Given the description of an element on the screen output the (x, y) to click on. 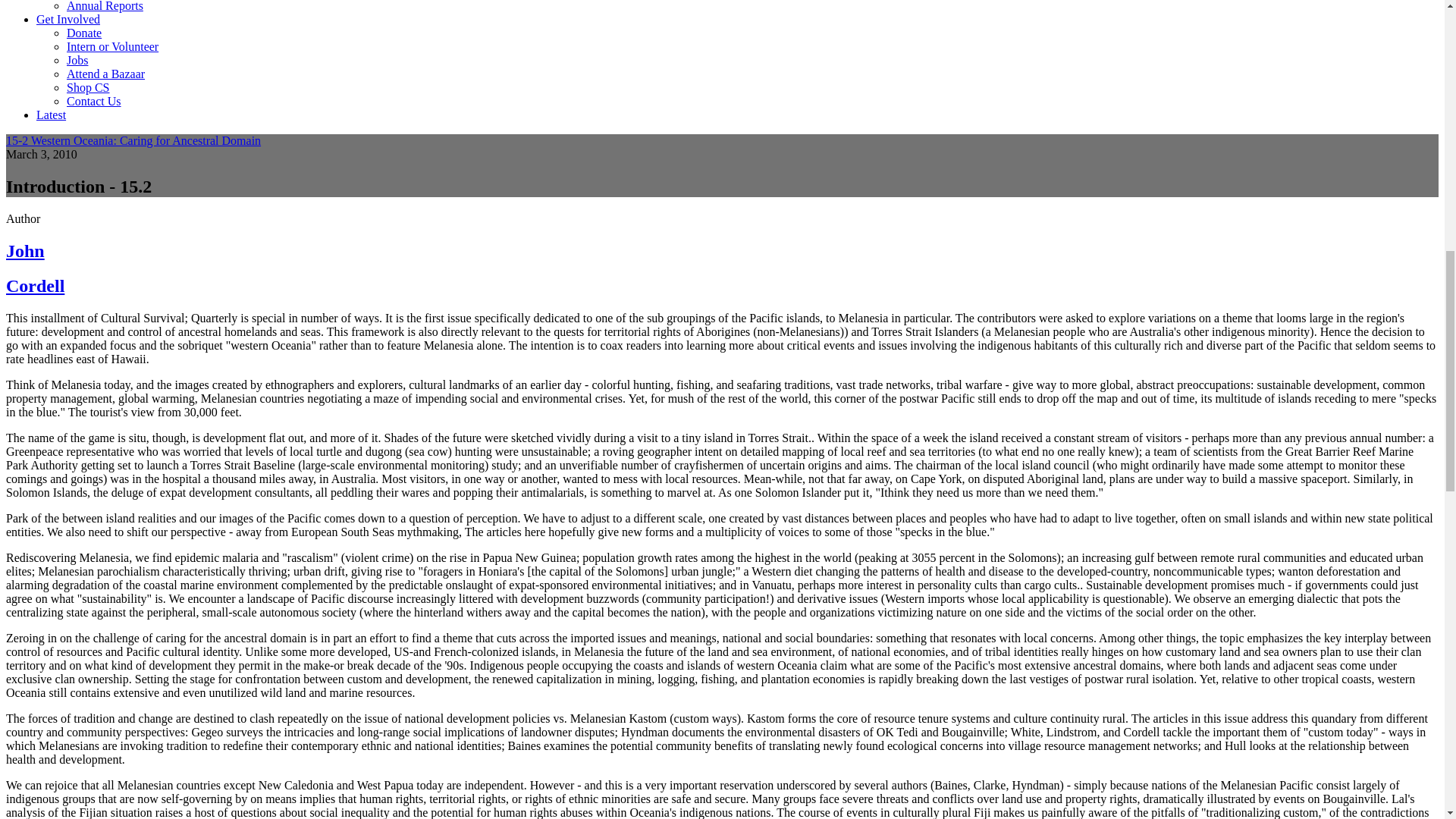
Get Involved (68, 19)
Shop CS (87, 87)
Donate (83, 32)
Jobs (76, 60)
Intern or Volunteer (112, 46)
